Given the description of an element on the screen output the (x, y) to click on. 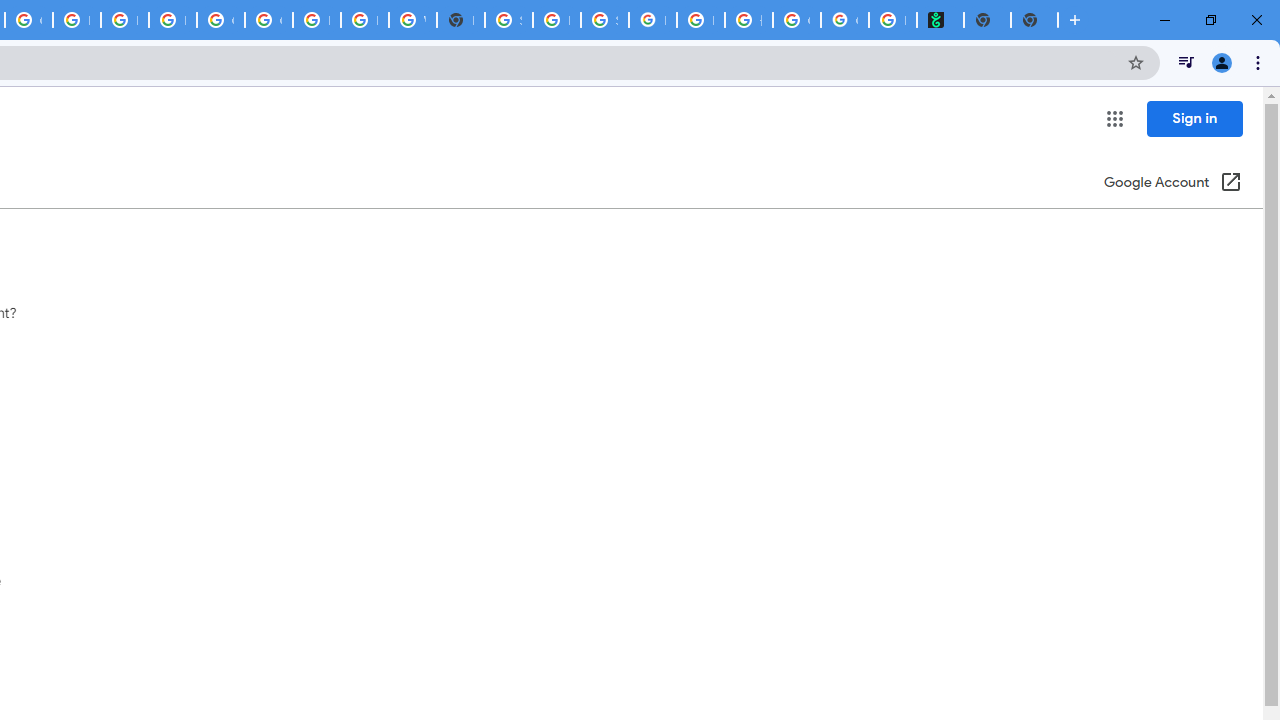
New Tab (460, 20)
Browse Chrome as a guest - Computer - Google Chrome Help (316, 20)
Sign in - Google Accounts (508, 20)
New Tab (1034, 20)
